Given the description of an element on the screen output the (x, y) to click on. 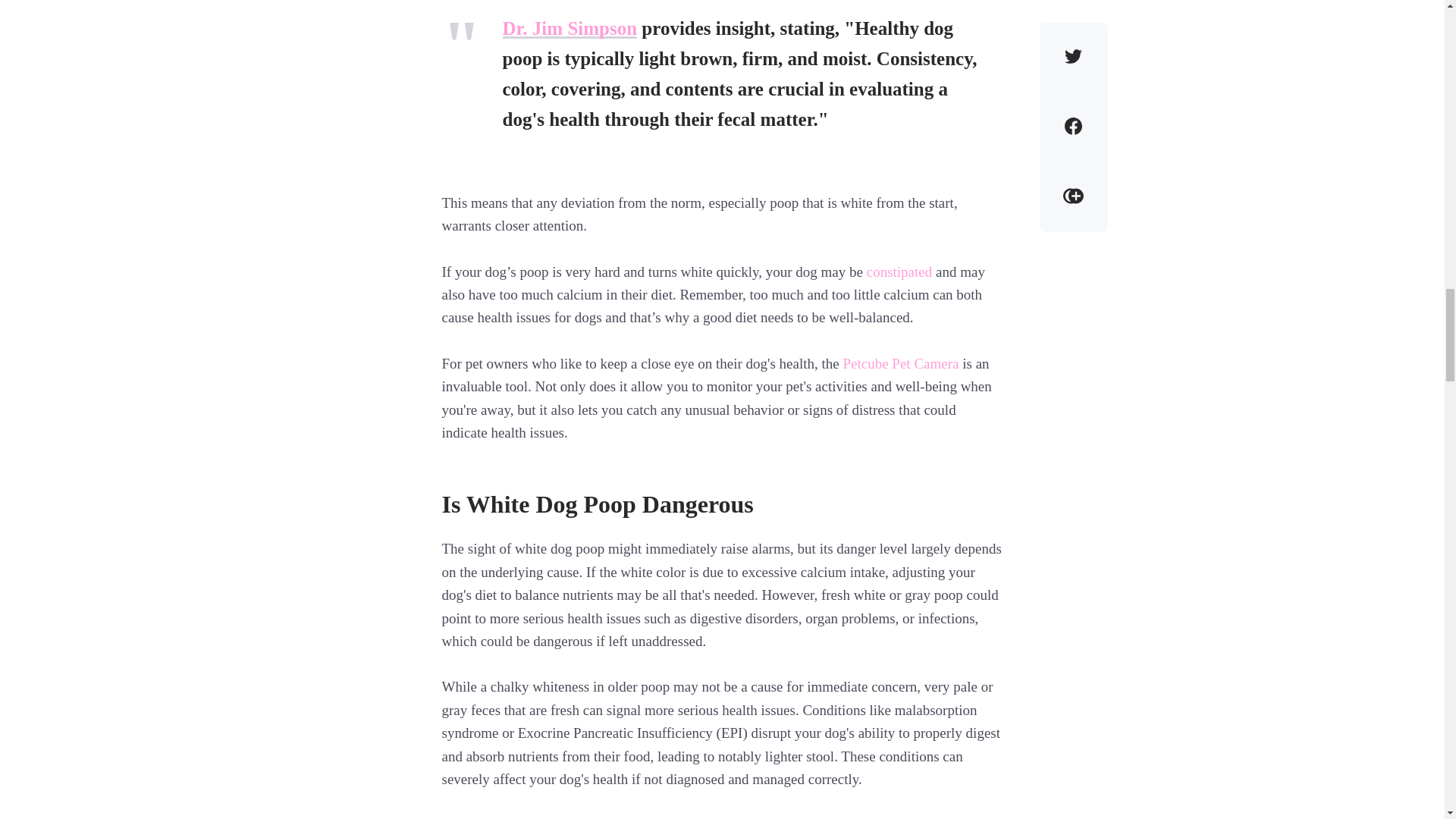
constipated (899, 272)
Petcube Pet Camera (900, 364)
Dr. Jim Simpson (569, 28)
